Given the description of an element on the screen output the (x, y) to click on. 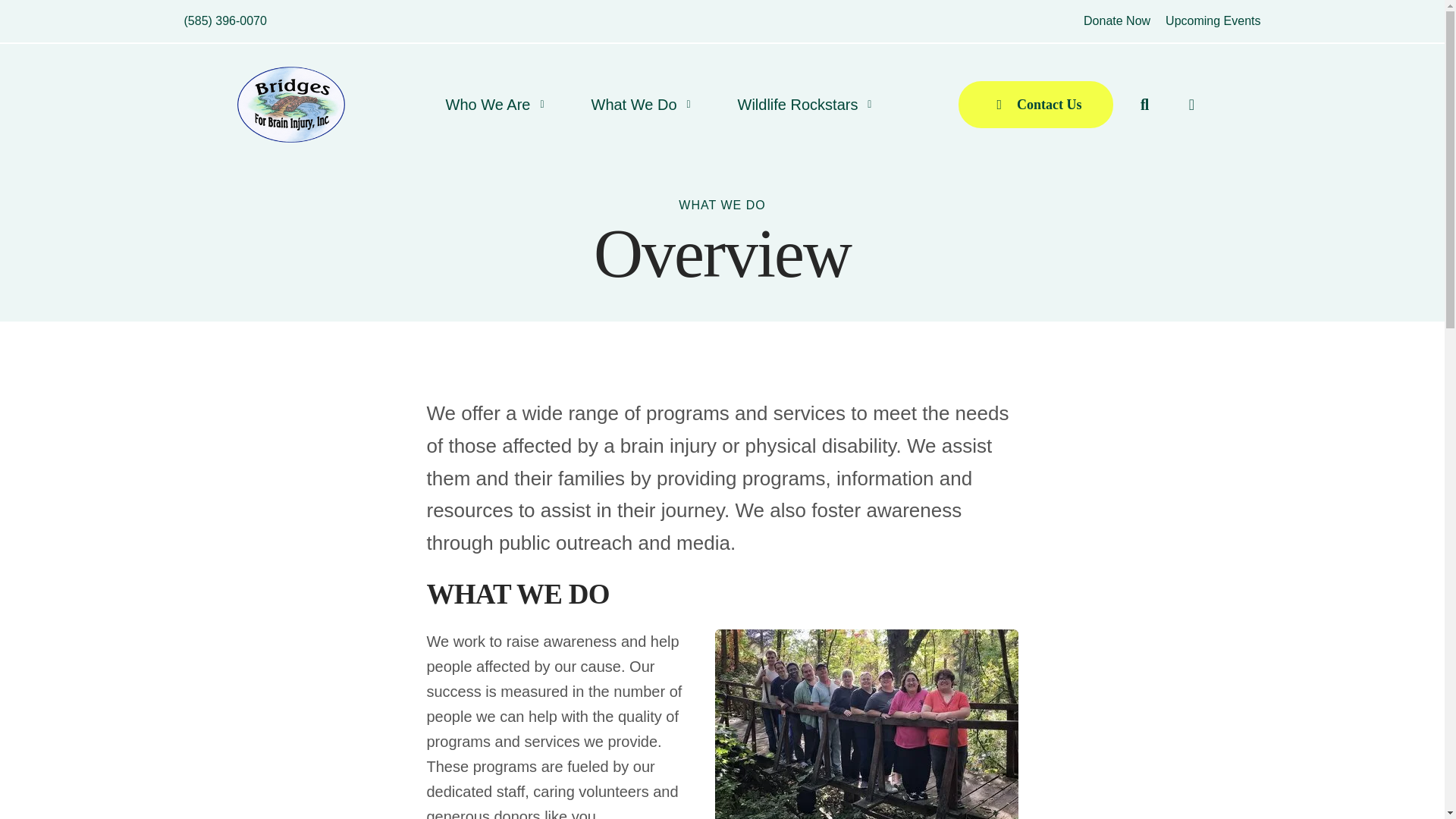
Who We Are (487, 104)
Donate Now (1116, 20)
logo (289, 104)
What We Do (633, 104)
Upcoming Events (1213, 20)
Wildlife Rockstars (797, 104)
